Given the description of an element on the screen output the (x, y) to click on. 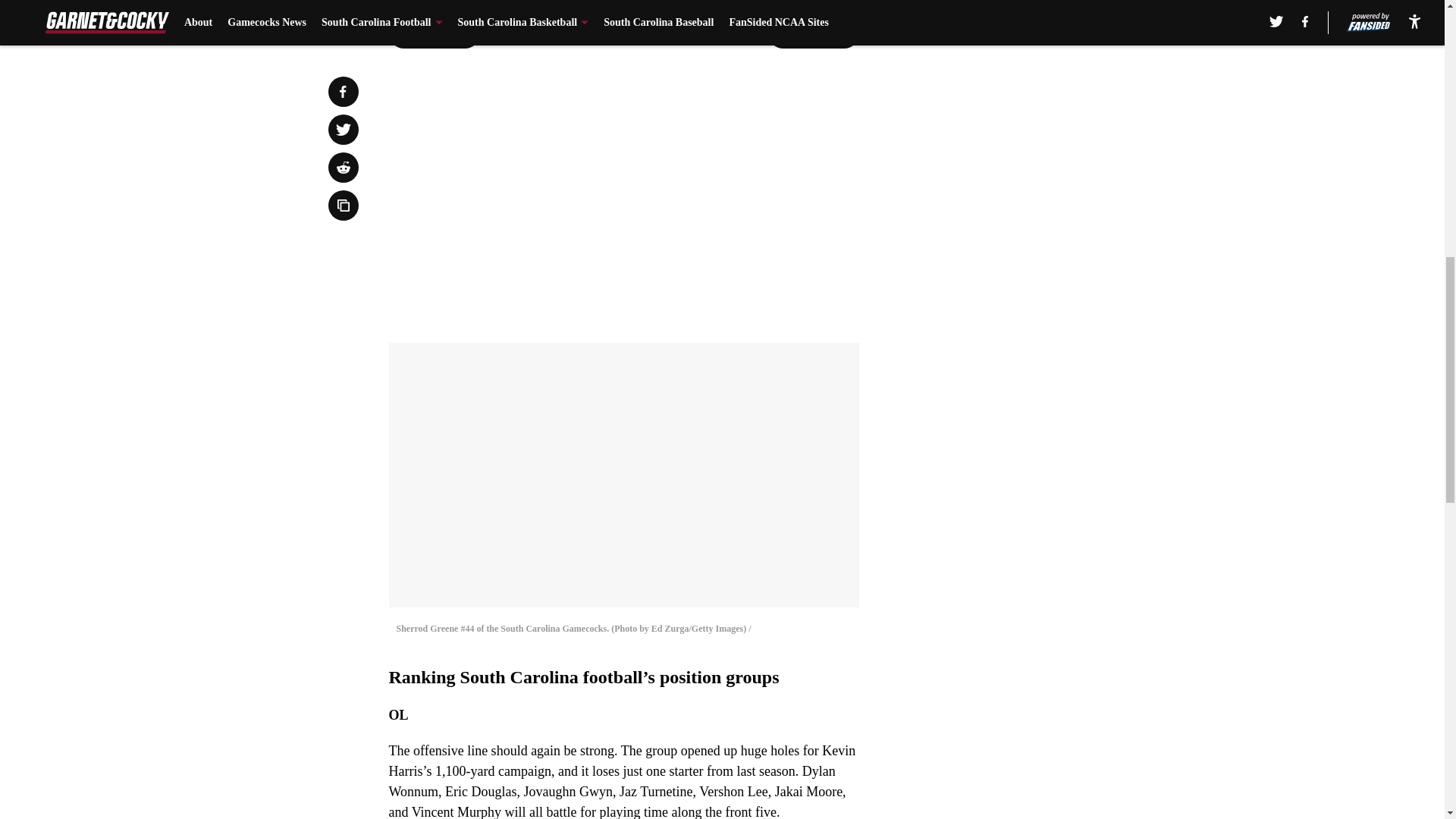
Next (813, 33)
Prev (433, 33)
